Given the description of an element on the screen output the (x, y) to click on. 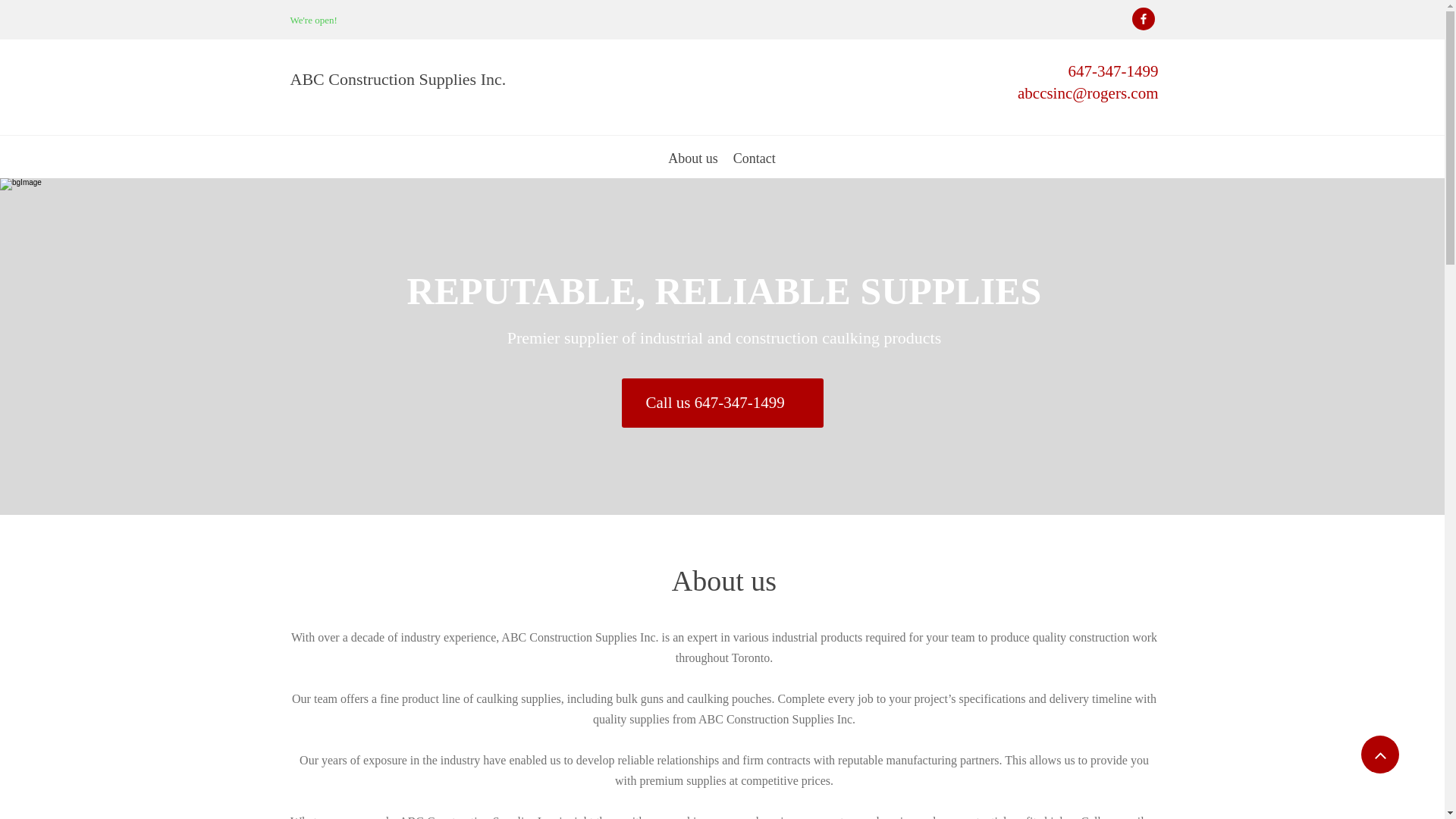
Contact Element type: text (754, 164)
Call us 647-347-1499 Element type: text (722, 402)
647-347-1499 Element type: text (1112, 73)
About us Element type: text (692, 164)
ABC Construction Supplies Inc. Element type: text (397, 82)
abccsinc@rogers.com Element type: text (1087, 95)
